Given the description of an element on the screen output the (x, y) to click on. 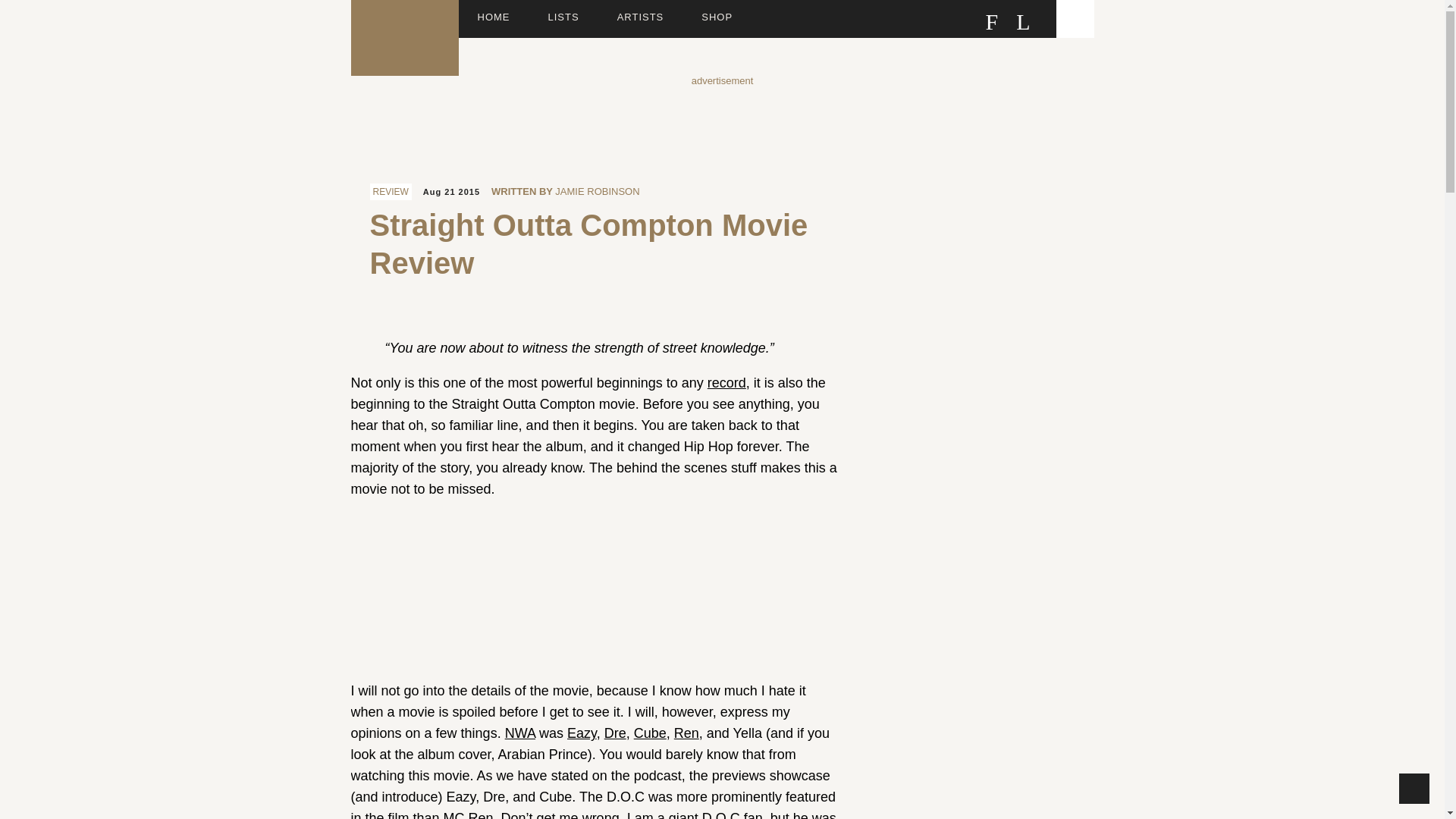
Cube (649, 733)
Straight Outta Compton Movie Review (588, 244)
Scroll To Top (1414, 788)
record (726, 382)
Scroll To Top (1414, 788)
Ren (686, 733)
Dre (615, 733)
Posts by Jamie Robinson (596, 191)
JAMIE ROBINSON (596, 191)
HOME (494, 18)
